Given the description of an element on the screen output the (x, y) to click on. 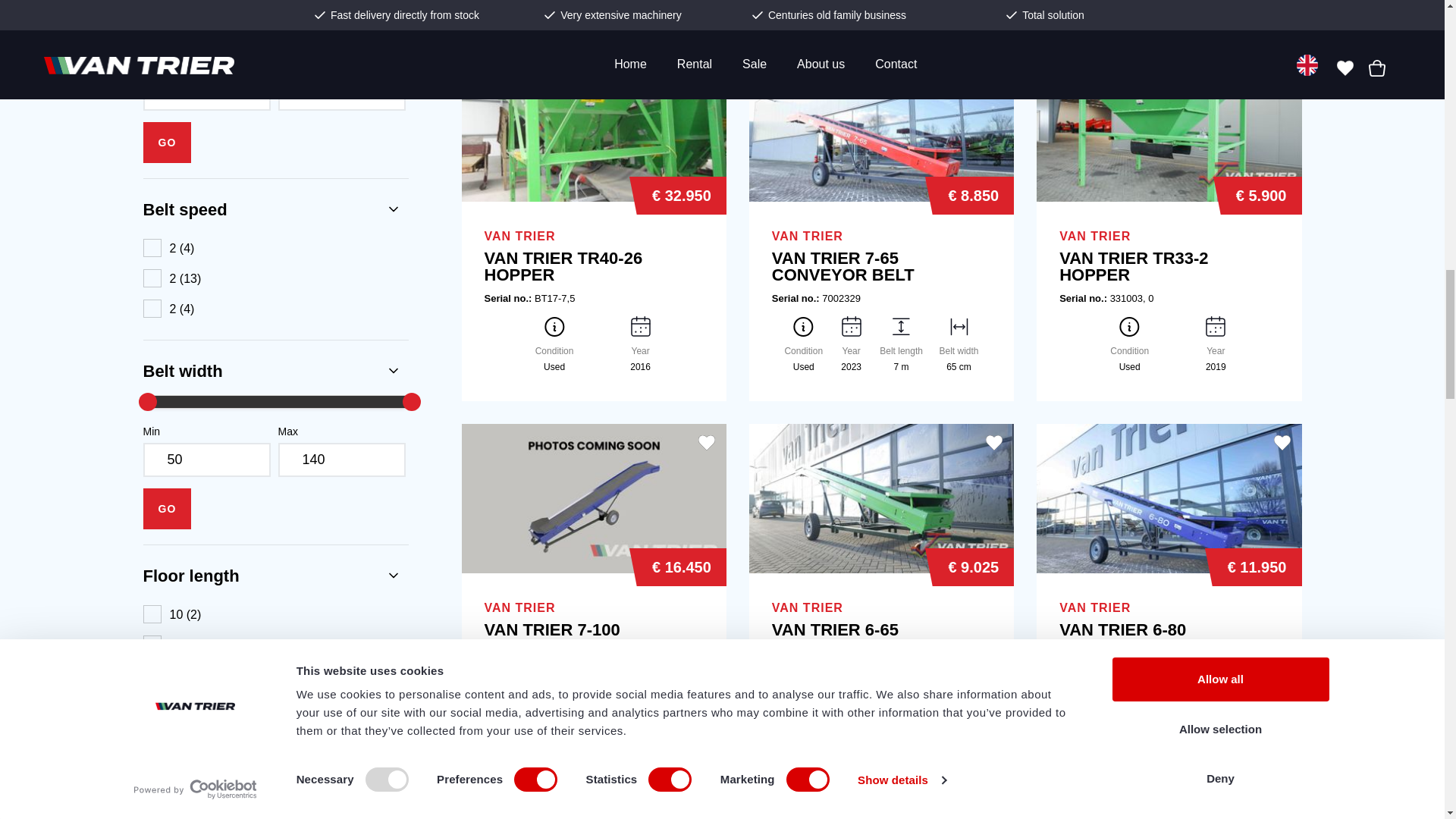
3.5 (205, 93)
50 (205, 459)
Go (166, 508)
Go (166, 142)
140 (341, 459)
30 (341, 93)
